Given the description of an element on the screen output the (x, y) to click on. 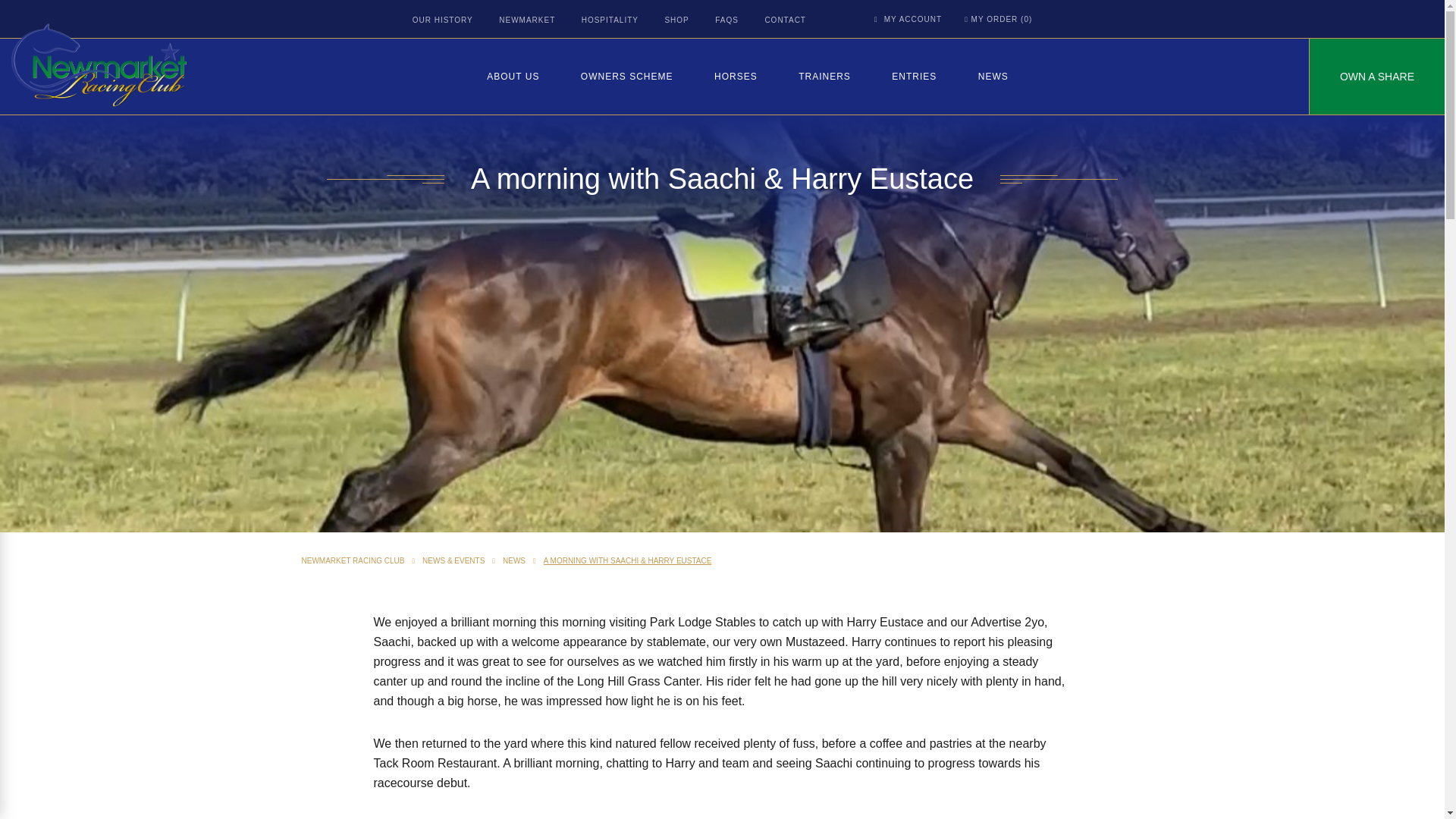
NEWMARKET (526, 19)
HORSES (735, 76)
ABOUT US (512, 76)
SHOP (676, 19)
CONTACT (784, 19)
TRAINERS (823, 76)
FAQS (726, 19)
OUR HISTORY (442, 19)
MY ACCOUNT (908, 19)
HOSPITALITY (609, 19)
